Given the description of an element on the screen output the (x, y) to click on. 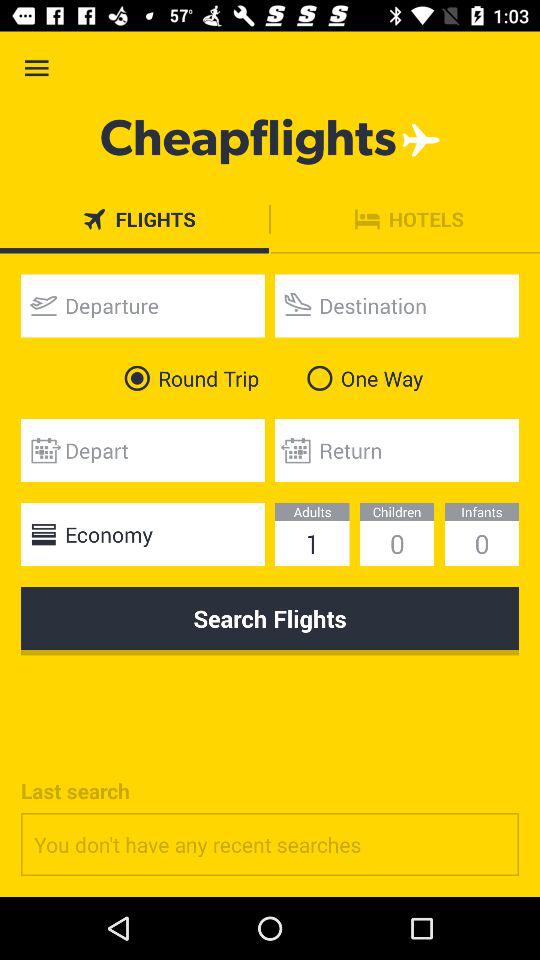
click icon above one way (397, 305)
